Given the description of an element on the screen output the (x, y) to click on. 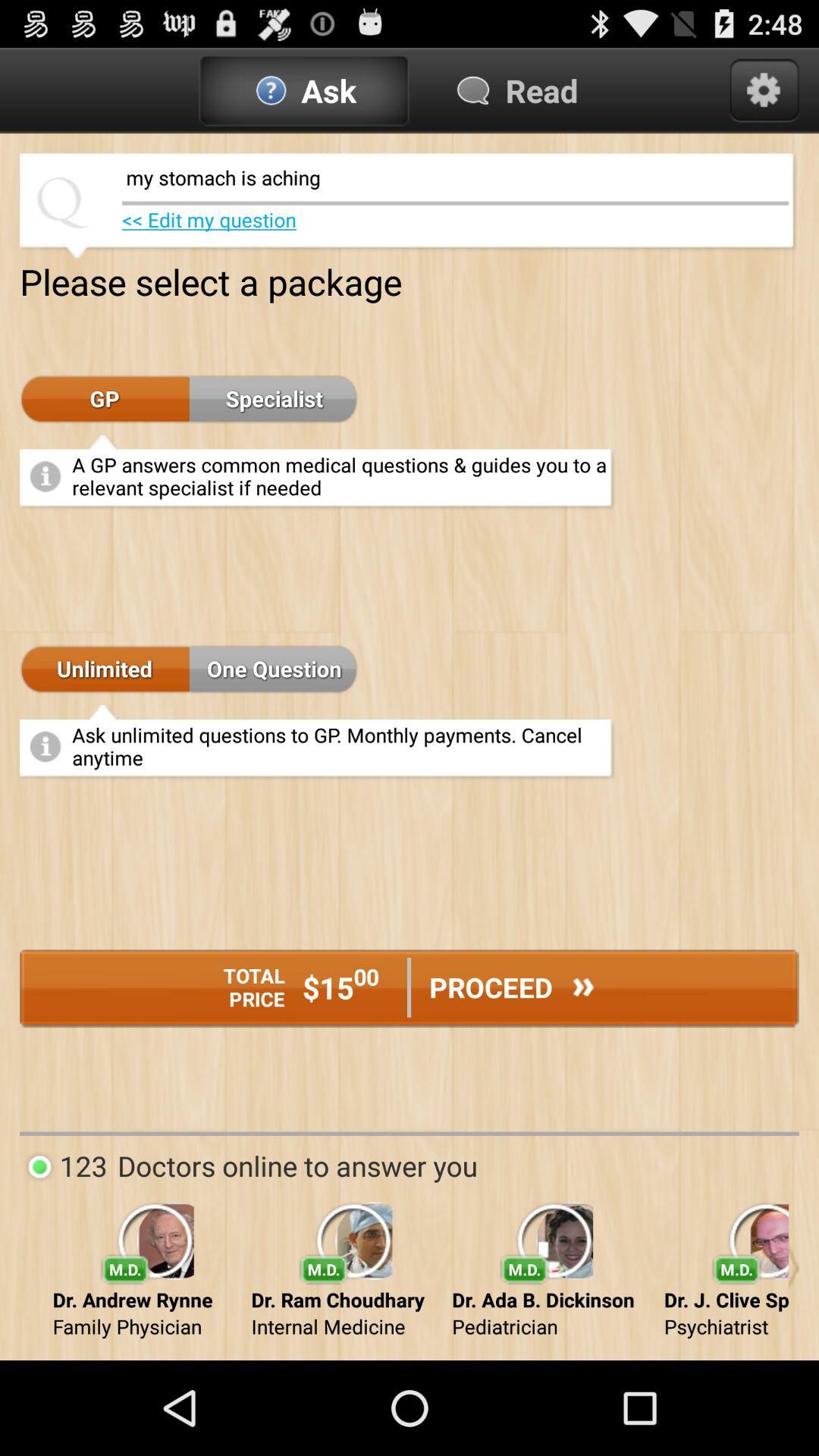
select the text box which says specialist (273, 399)
information icon below the text unlimited (46, 746)
select the options edit my questions (209, 219)
